Given the description of an element on the screen output the (x, y) to click on. 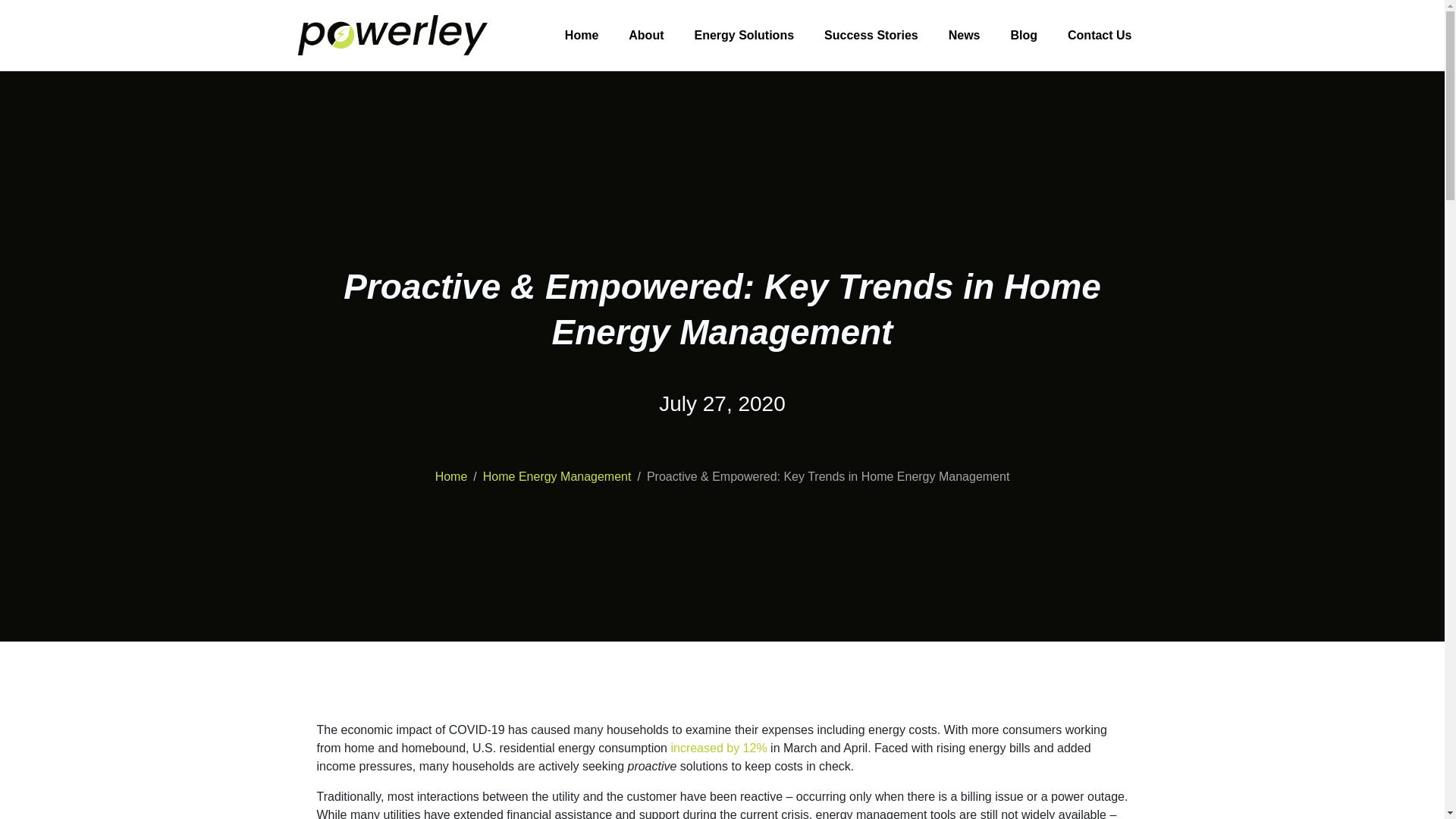
Contact Us (1099, 35)
News (964, 35)
Home Energy Management (557, 476)
Home (451, 476)
Success Stories (871, 35)
Home (581, 35)
Energy Solutions (743, 35)
About (645, 35)
Blog (1023, 35)
